Given the description of an element on the screen output the (x, y) to click on. 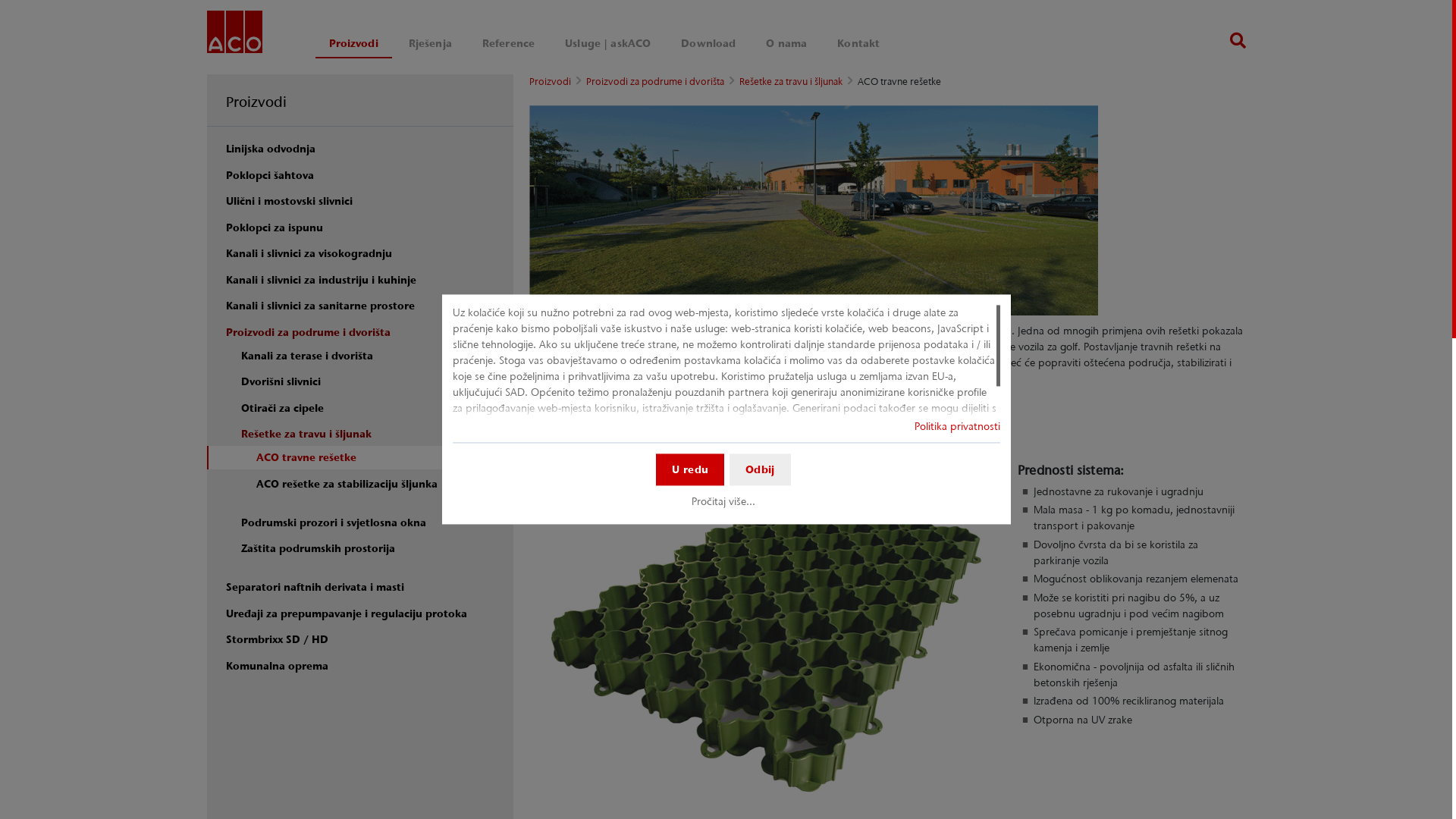
ACO Bosna i Hercegovina Element type: hover (233, 31)
Politika privatnosti Element type: text (957, 426)
Download Element type: text (708, 43)
O nama Element type: text (786, 43)
Podrumski prozori i svjetlosna okna Element type: text (361, 522)
Proizvodi Element type: text (255, 101)
Odbij Element type: text (759, 469)
Proizvodi Element type: text (353, 43)
Reference Element type: text (508, 43)
Separatori naftnih derivata i masti Element type: text (361, 587)
Poklopci za ispunu Element type: text (361, 227)
Stormbrixx SD / HD Element type: text (361, 639)
Usluge | askACO Element type: text (607, 43)
ACO Bosna i Hercegovina Element type: hover (233, 34)
Proizvodi Element type: text (550, 81)
Kontakt Element type: text (858, 43)
Komunalna oprema Element type: text (361, 665)
U redu Element type: text (689, 469)
Kanali i slivnici za industriju i kuhinje Element type: text (361, 279)
Linijska odvodnja Element type: text (361, 148)
Kanali i slivnici za visokogradnju Element type: text (361, 253)
Kanali i slivnici za sanitarne prostore Element type: text (361, 305)
